Given the description of an element on the screen output the (x, y) to click on. 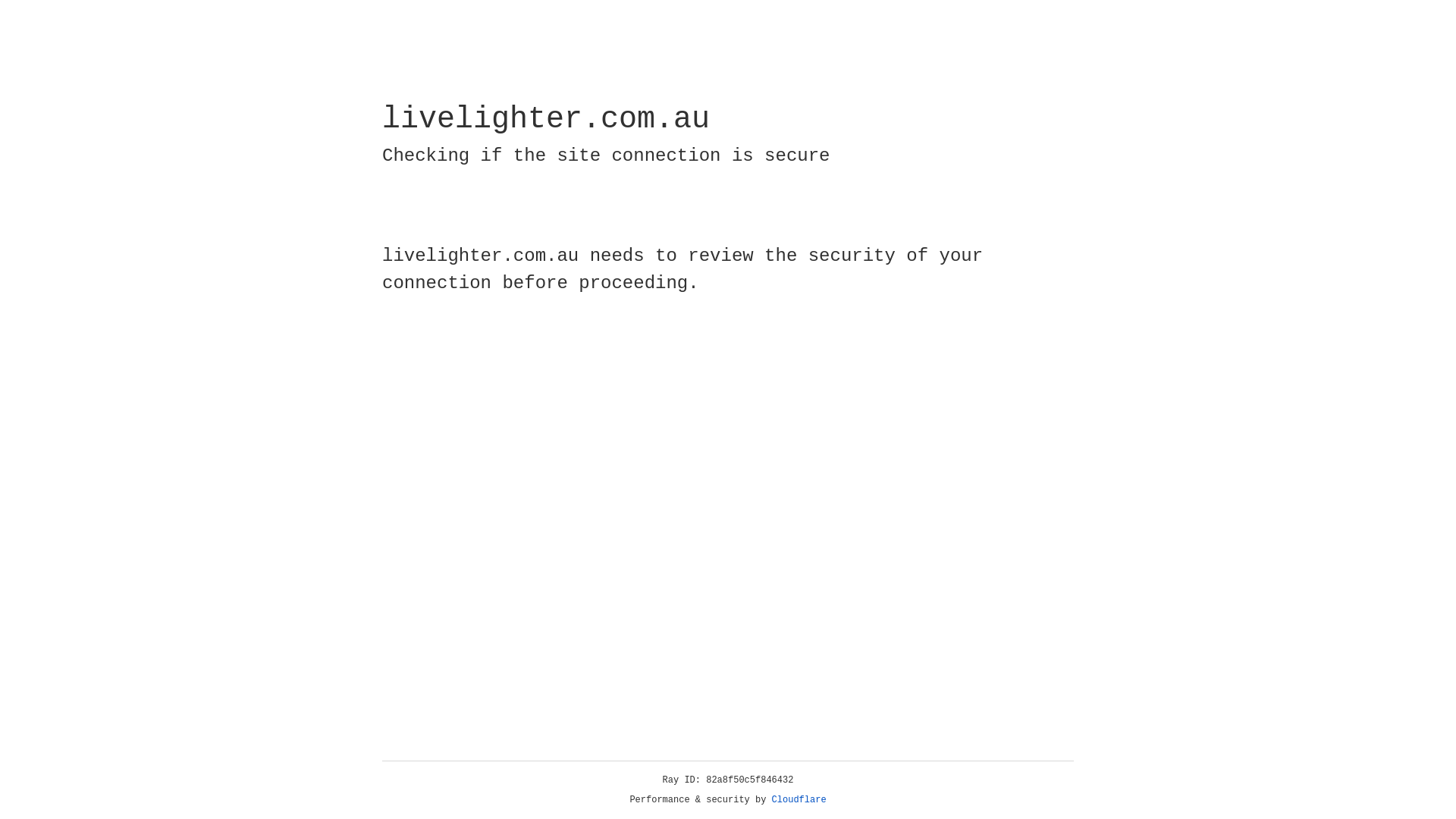
Cloudflare Element type: text (798, 799)
